Given the description of an element on the screen output the (x, y) to click on. 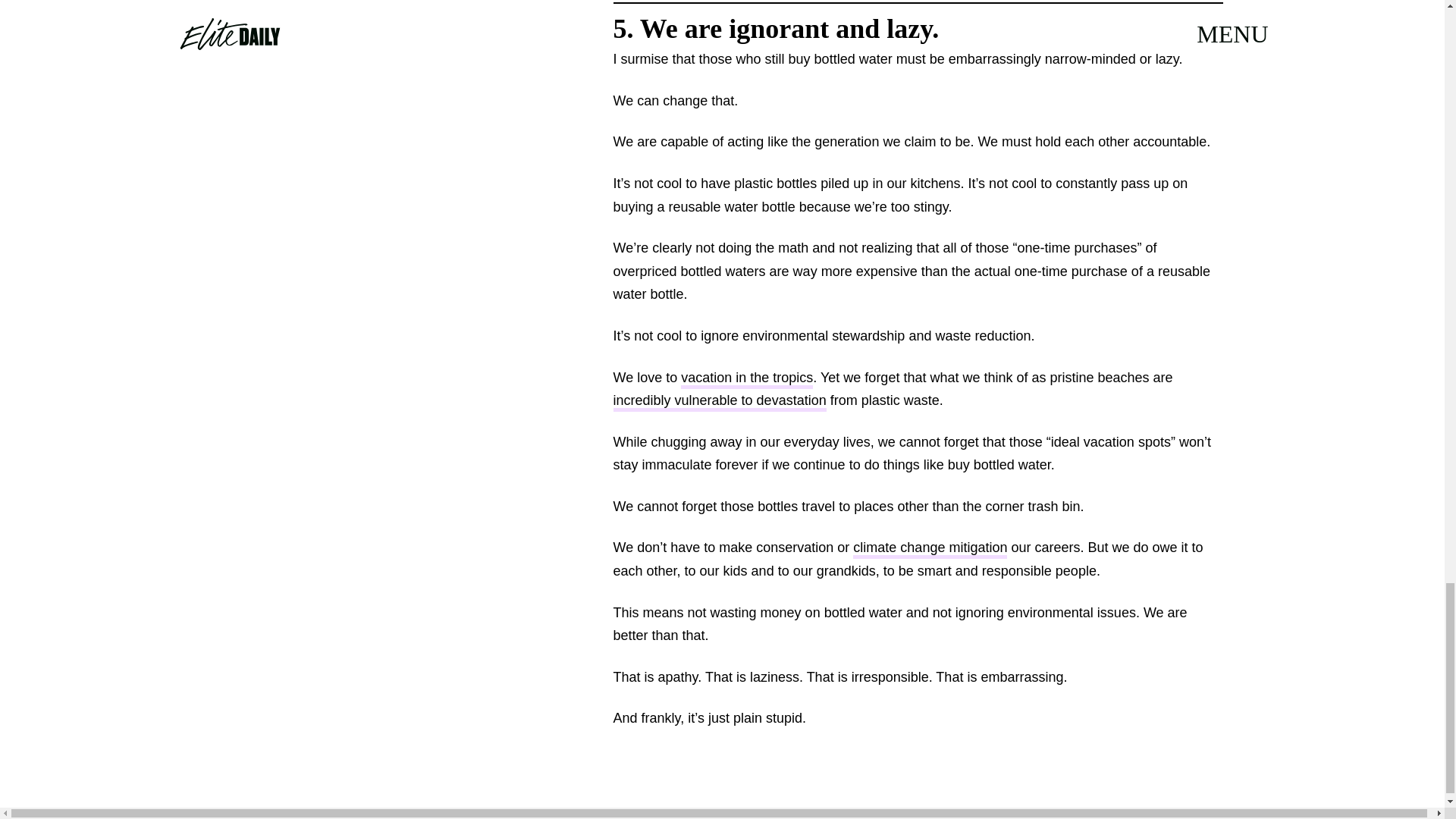
incredibly vulnerable to devastation (718, 402)
climate change mitigation (930, 548)
vacation in the tropics (746, 378)
